Given the description of an element on the screen output the (x, y) to click on. 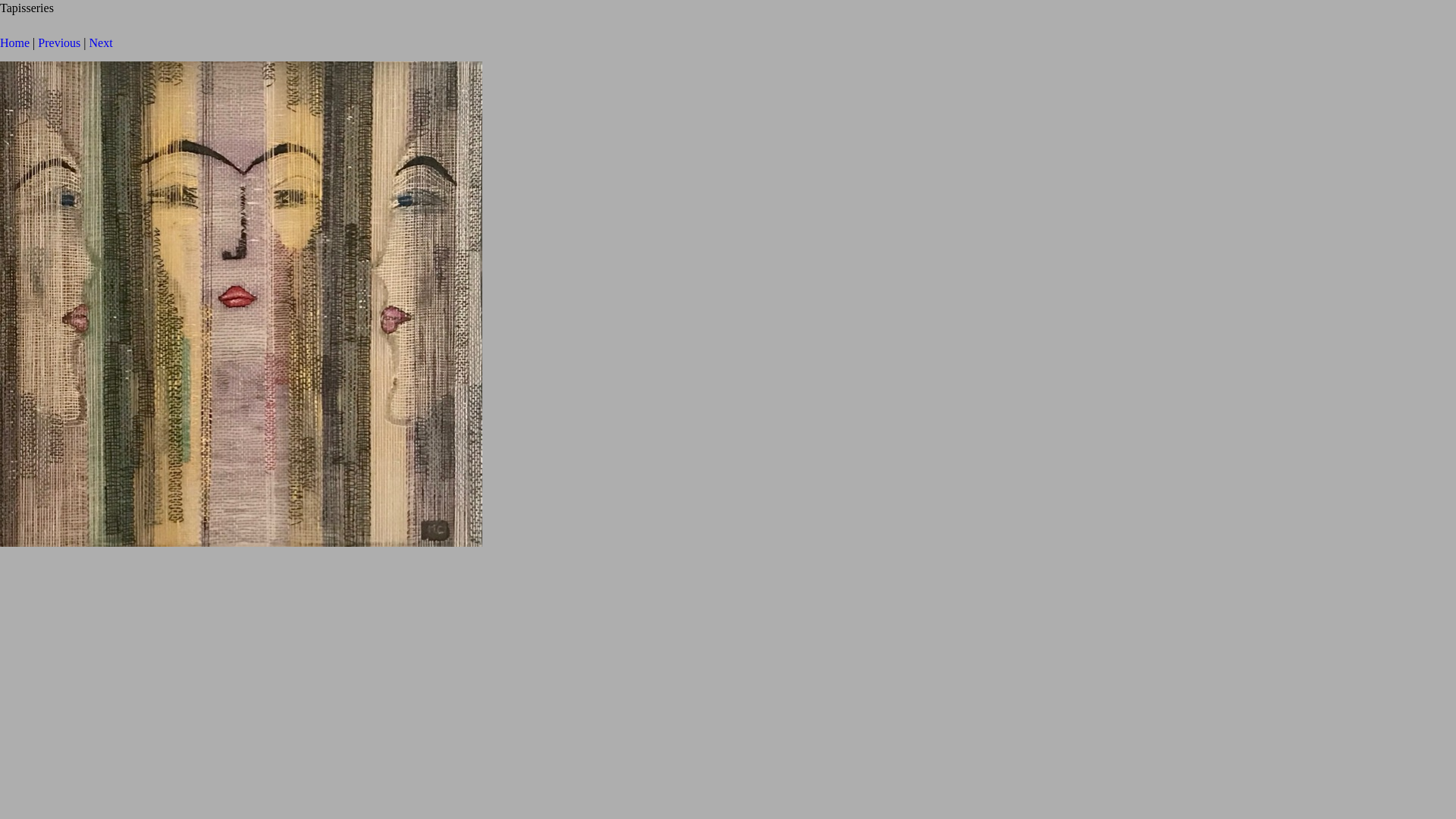
Next Element type: text (100, 42)
Home Element type: text (14, 42)
Previous Element type: text (58, 42)
